Given the description of an element on the screen output the (x, y) to click on. 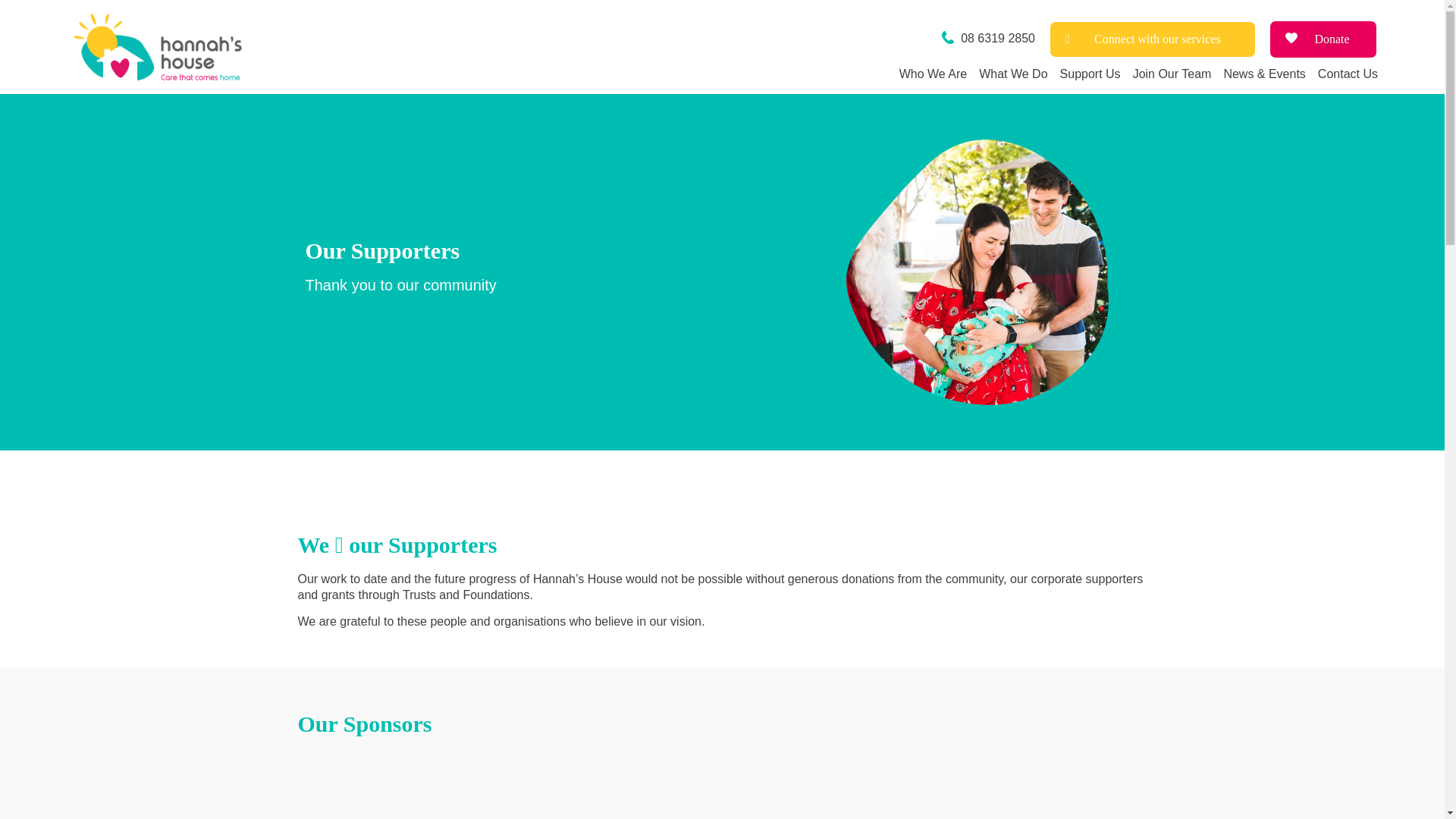
Donate (1322, 38)
telethon7-logo (679, 803)
Who We Are (933, 73)
Connect with our services (1152, 39)
Home (881, 73)
logo-minderoo-foundation (334, 803)
What We Do (1012, 73)
min-resources-logo (967, 803)
08 6319 2850 (988, 39)
Horizontal CMYK 1 (159, 46)
